Given the description of an element on the screen output the (x, y) to click on. 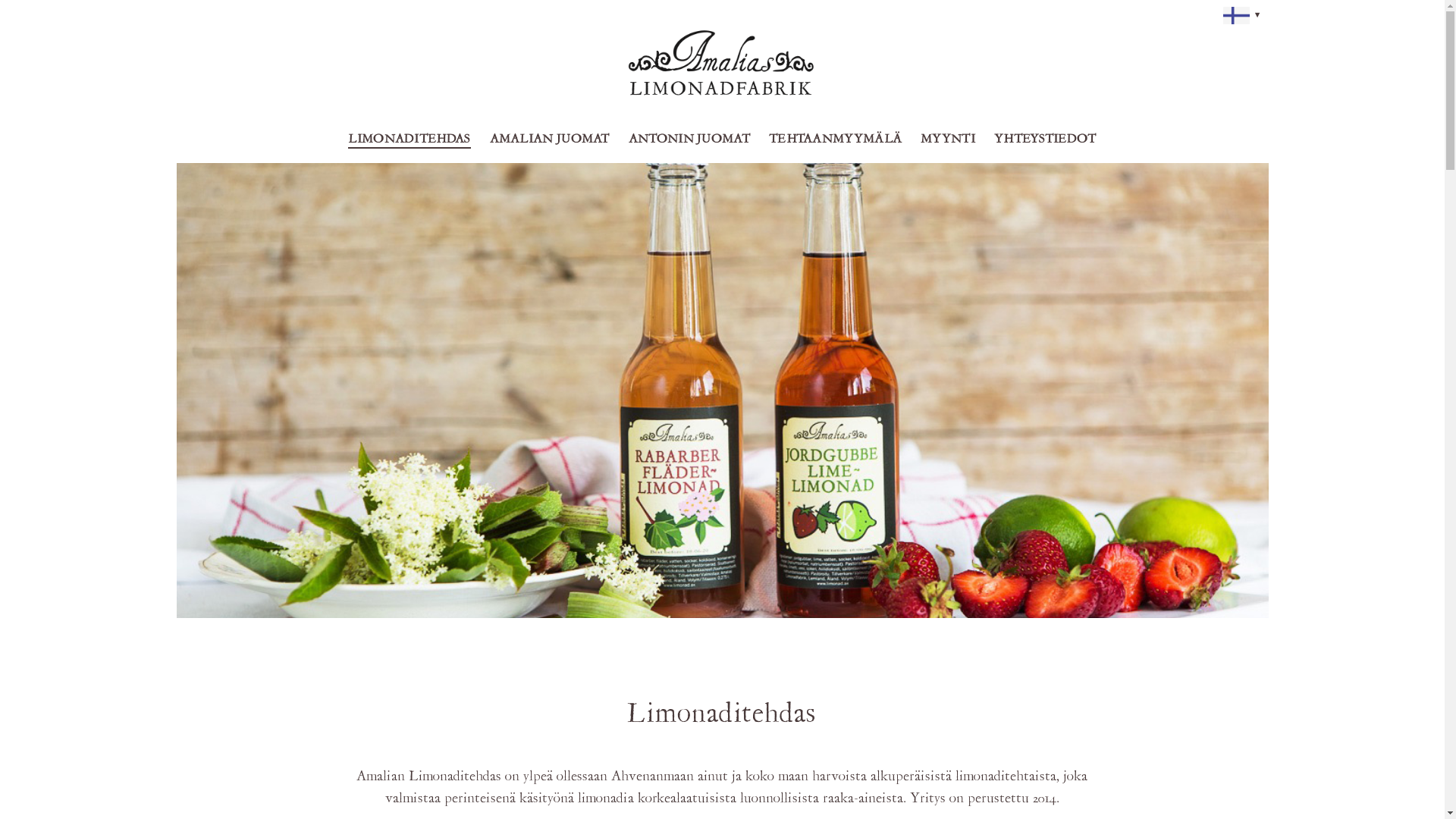
MYYNTI Element type: text (947, 139)
ANTONIN JUOMAT Element type: text (688, 139)
YHTEYSTIEDOT Element type: text (1045, 139)
AMALIAN JUOMAT Element type: text (549, 139)
LIMONADITEHDAS Element type: text (409, 140)
